Given the description of an element on the screen output the (x, y) to click on. 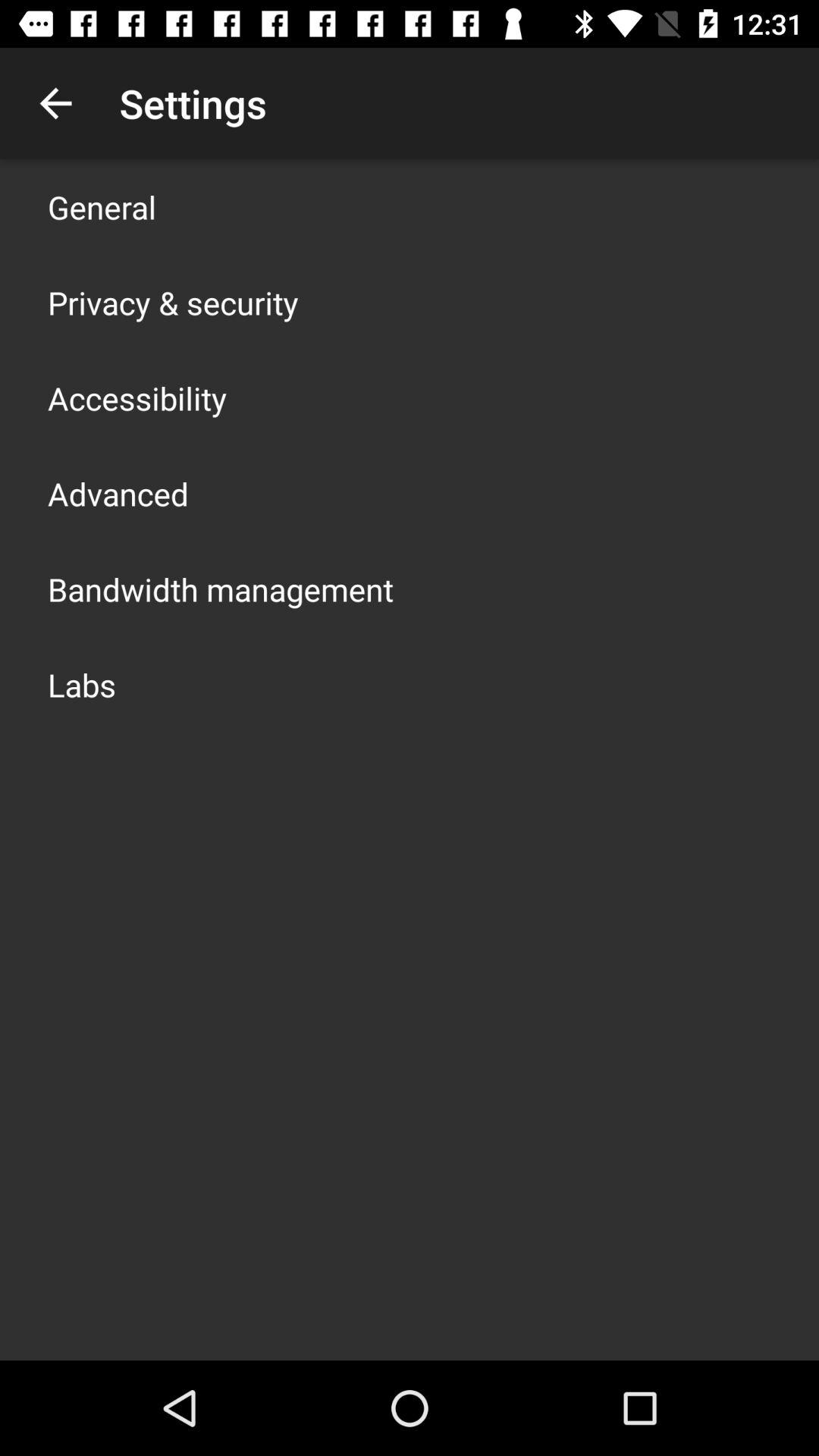
turn off accessibility item (136, 397)
